Given the description of an element on the screen output the (x, y) to click on. 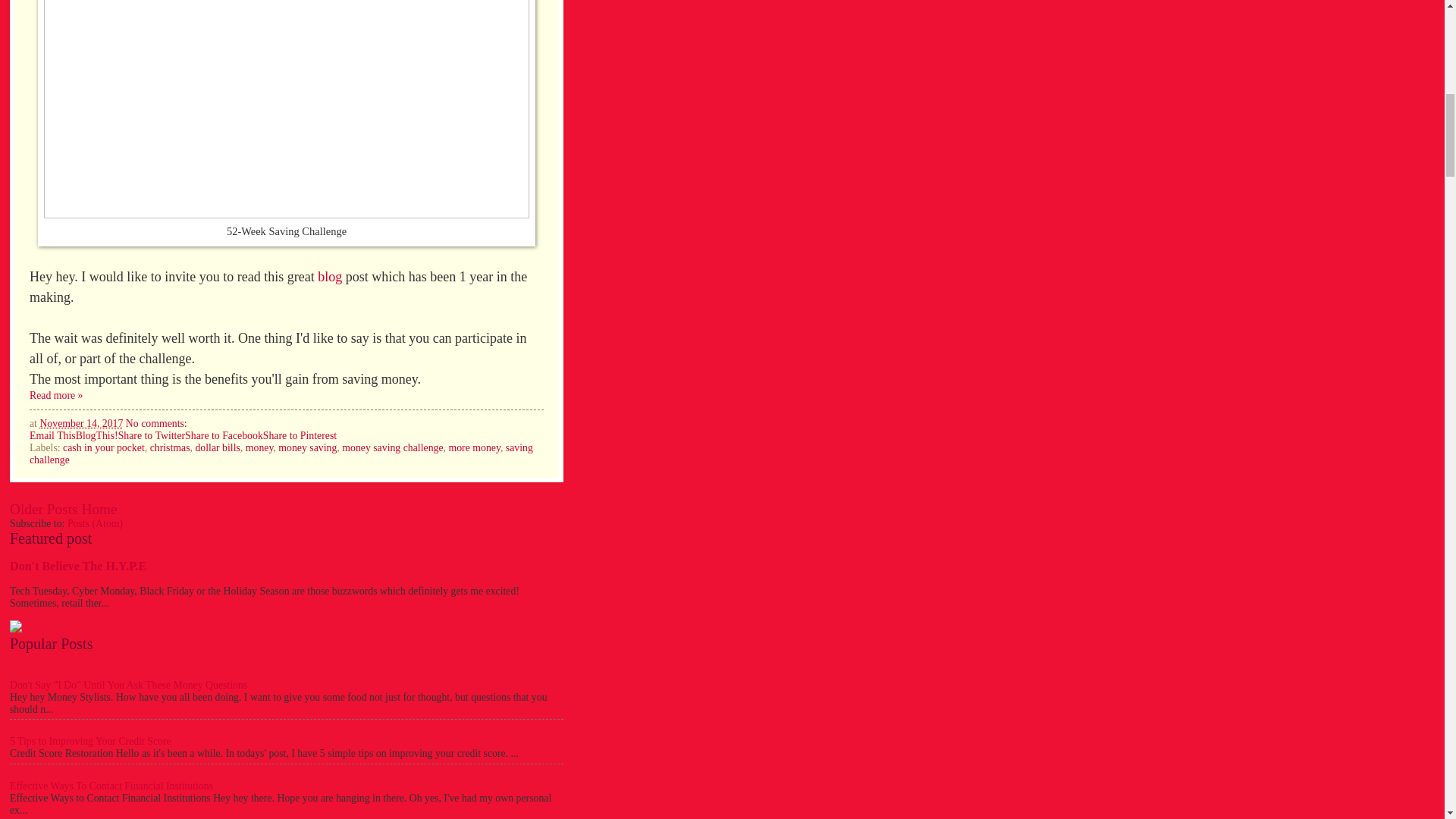
Email This (52, 435)
Don't Say "I Do" Until You Ask These Money Questions (128, 685)
Email This (52, 435)
November 14, 2017 (80, 423)
cash in your pocket (103, 447)
Share to Twitter (150, 435)
money saving (307, 447)
money saving challenge (392, 447)
dollar bills (217, 447)
Share to Facebook (223, 435)
No comments: (156, 423)
money (259, 447)
Effective Ways To Contact Financial Institutions (111, 785)
52 Week Saving Challenge (55, 395)
Share to Facebook (223, 435)
